Given the description of an element on the screen output the (x, y) to click on. 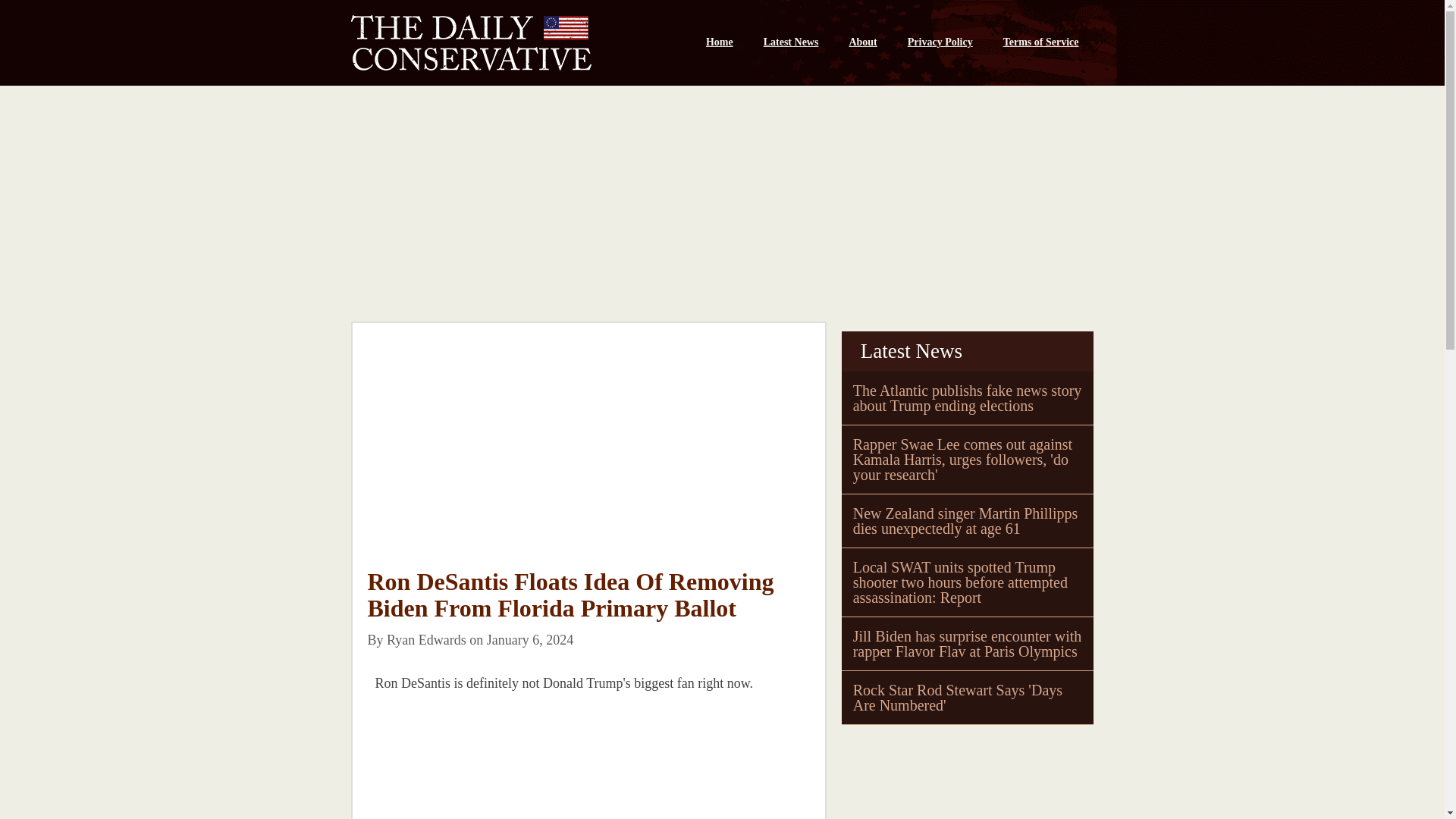
Privacy Policy (940, 42)
Latest News (791, 42)
Ryan Edwards (426, 639)
Terms of Service (1041, 42)
Home (719, 42)
About (861, 42)
Advertisement (587, 456)
Rock Star Rod Stewart Says 'Days Are Numbered' (957, 697)
Advertisement (480, 763)
